Given the description of an element on the screen output the (x, y) to click on. 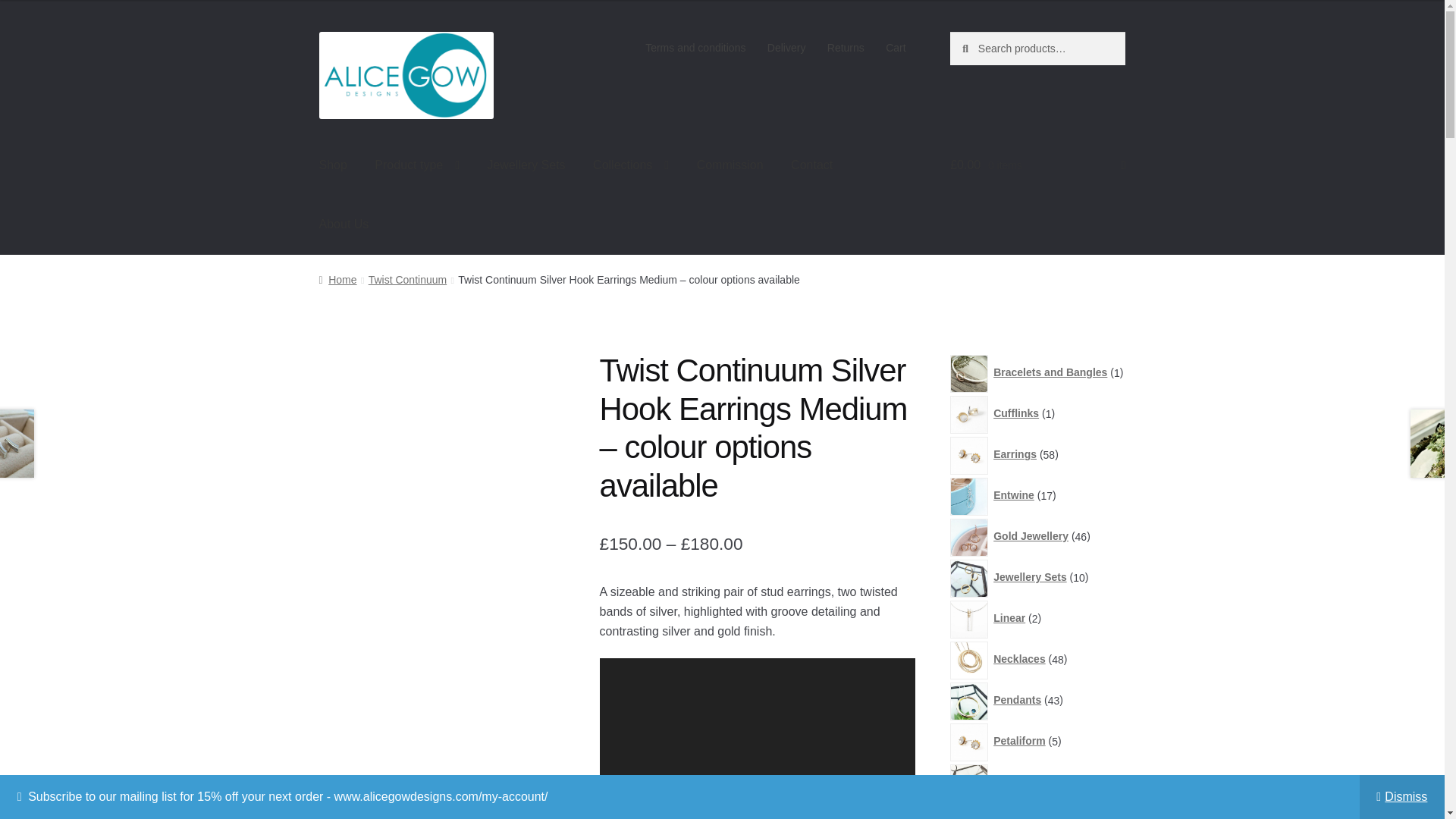
Contact (811, 164)
Commission (730, 164)
Product type (416, 164)
View your shopping basket (1037, 164)
Cart (895, 47)
Returns (846, 47)
Delivery (786, 47)
Terms and conditions (695, 47)
